Given the description of an element on the screen output the (x, y) to click on. 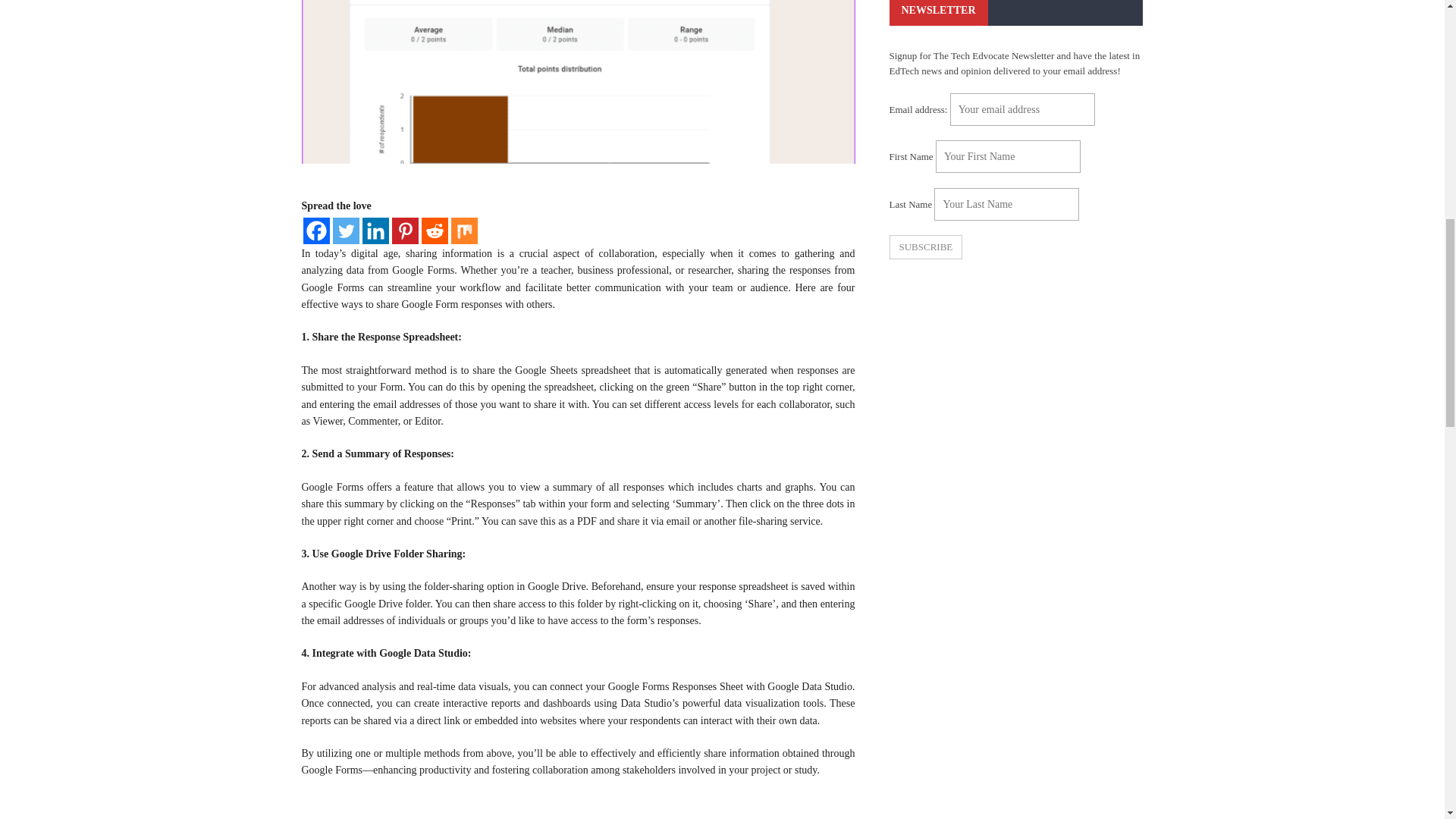
Reddit (435, 230)
Linkedin (375, 230)
Pinterest (404, 230)
Advertisement (578, 807)
Advertisement (1015, 390)
Subscribe (925, 247)
Facebook (316, 230)
Mix (463, 230)
Twitter (344, 230)
